Given the description of an element on the screen output the (x, y) to click on. 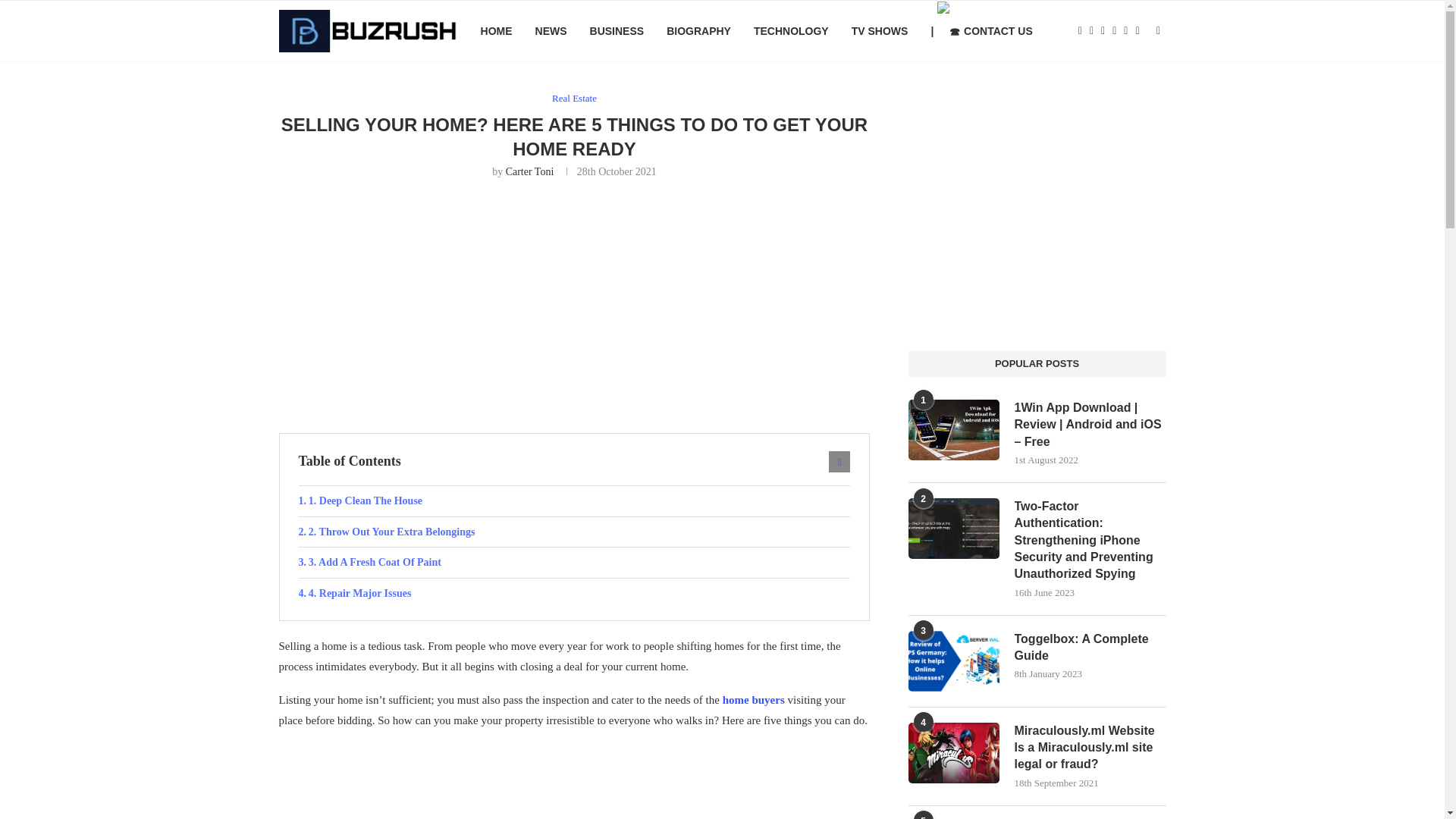
home buyers (753, 699)
TECHNOLOGY (791, 30)
Advertisement (574, 304)
1. Deep Clean The House (574, 501)
Advertisement (574, 781)
2. Throw Out Your Extra Belongings (574, 531)
BUSINESS (617, 30)
Carter Toni (529, 171)
2. Throw Out Your Extra Belongings (574, 531)
3. Add A Fresh Coat Of Paint (574, 562)
BIOGRAPHY (698, 30)
4. Repair Major Issues (574, 593)
TV SHOWS (879, 30)
Real Estate (573, 98)
4. Repair Major Issues (574, 593)
